Given the description of an element on the screen output the (x, y) to click on. 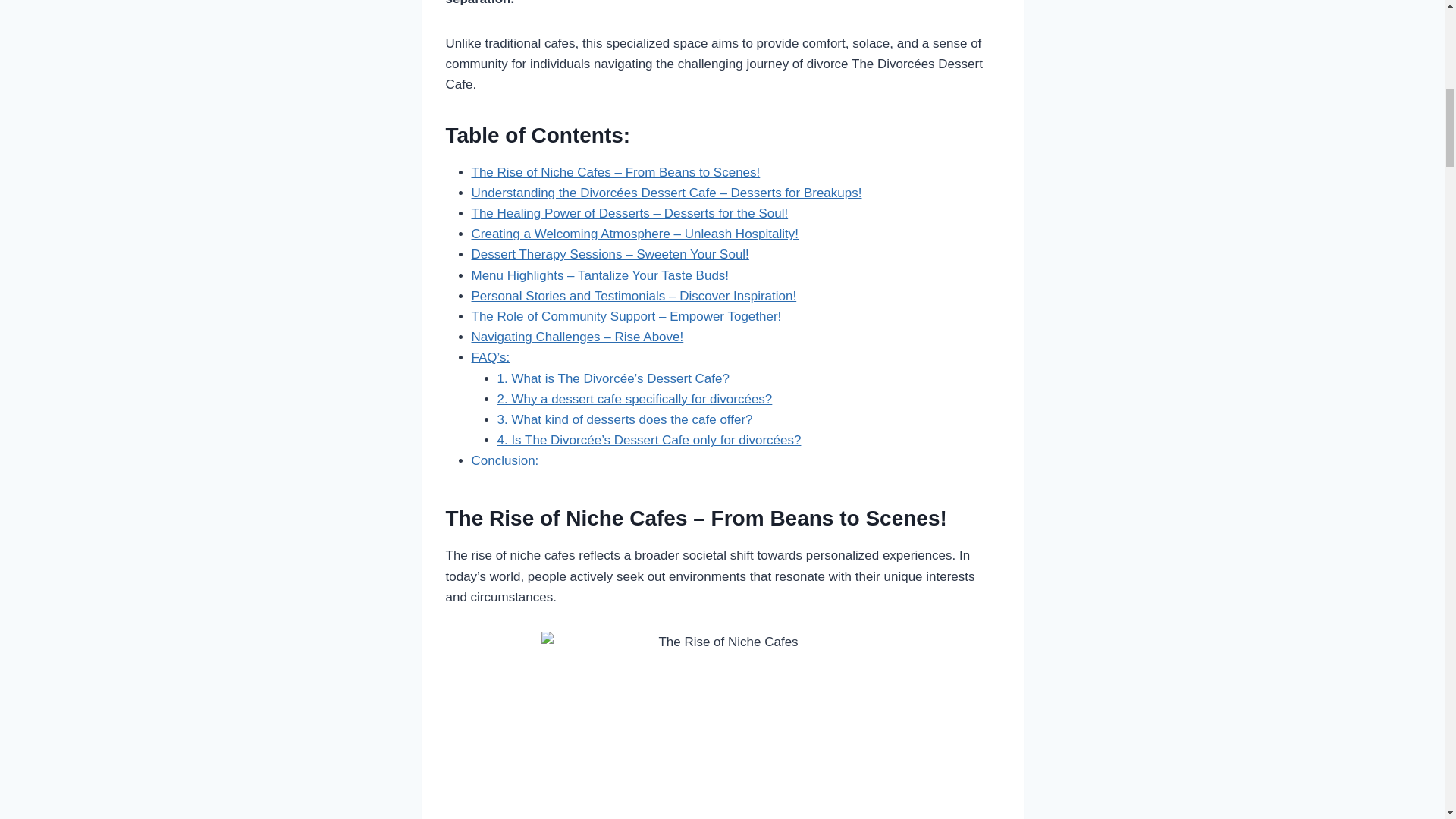
3. What kind of desserts does the cafe offer? (624, 419)
Conclusion: (504, 460)
